Given the description of an element on the screen output the (x, y) to click on. 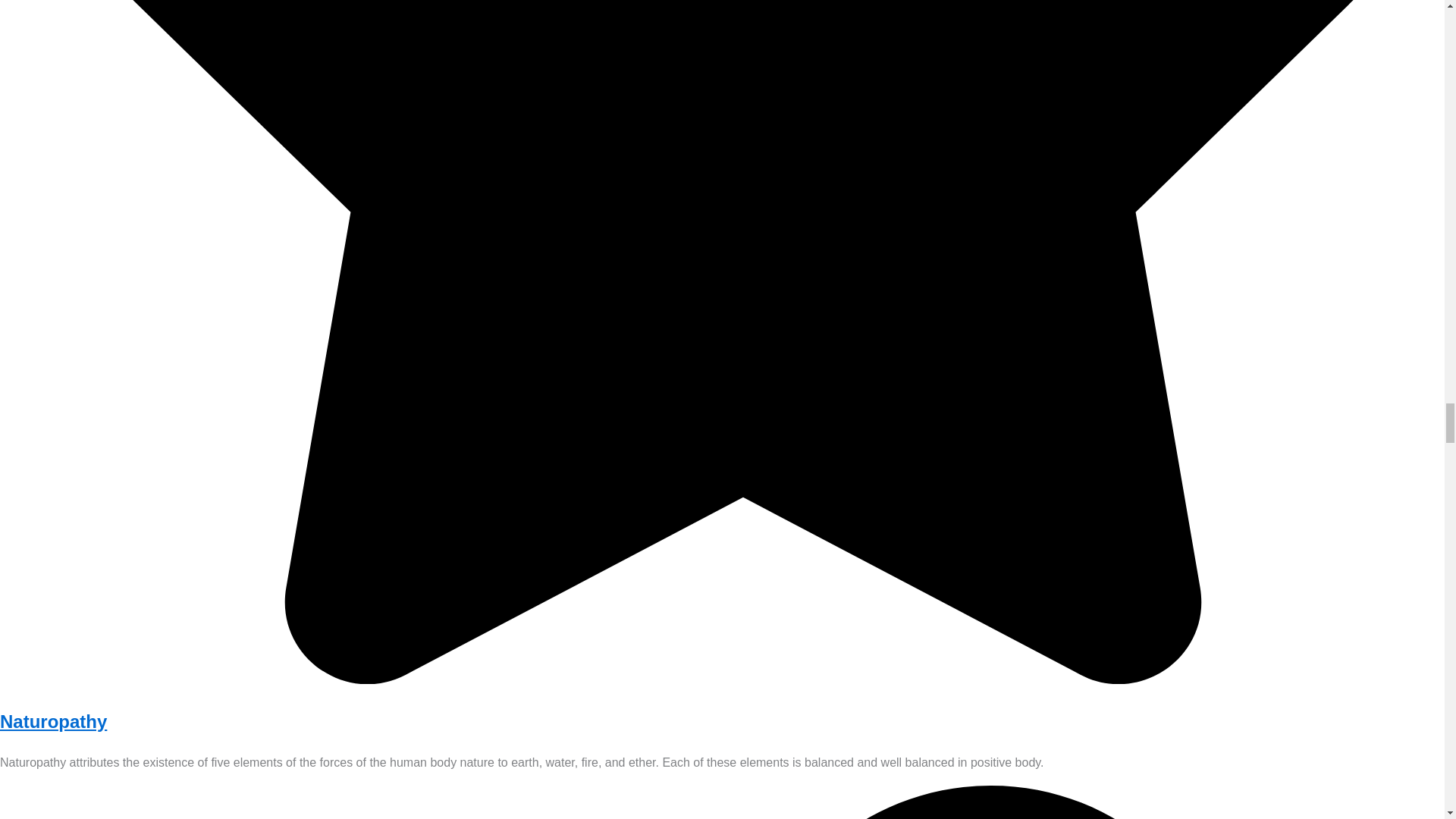
Naturopathy (53, 721)
